Given the description of an element on the screen output the (x, y) to click on. 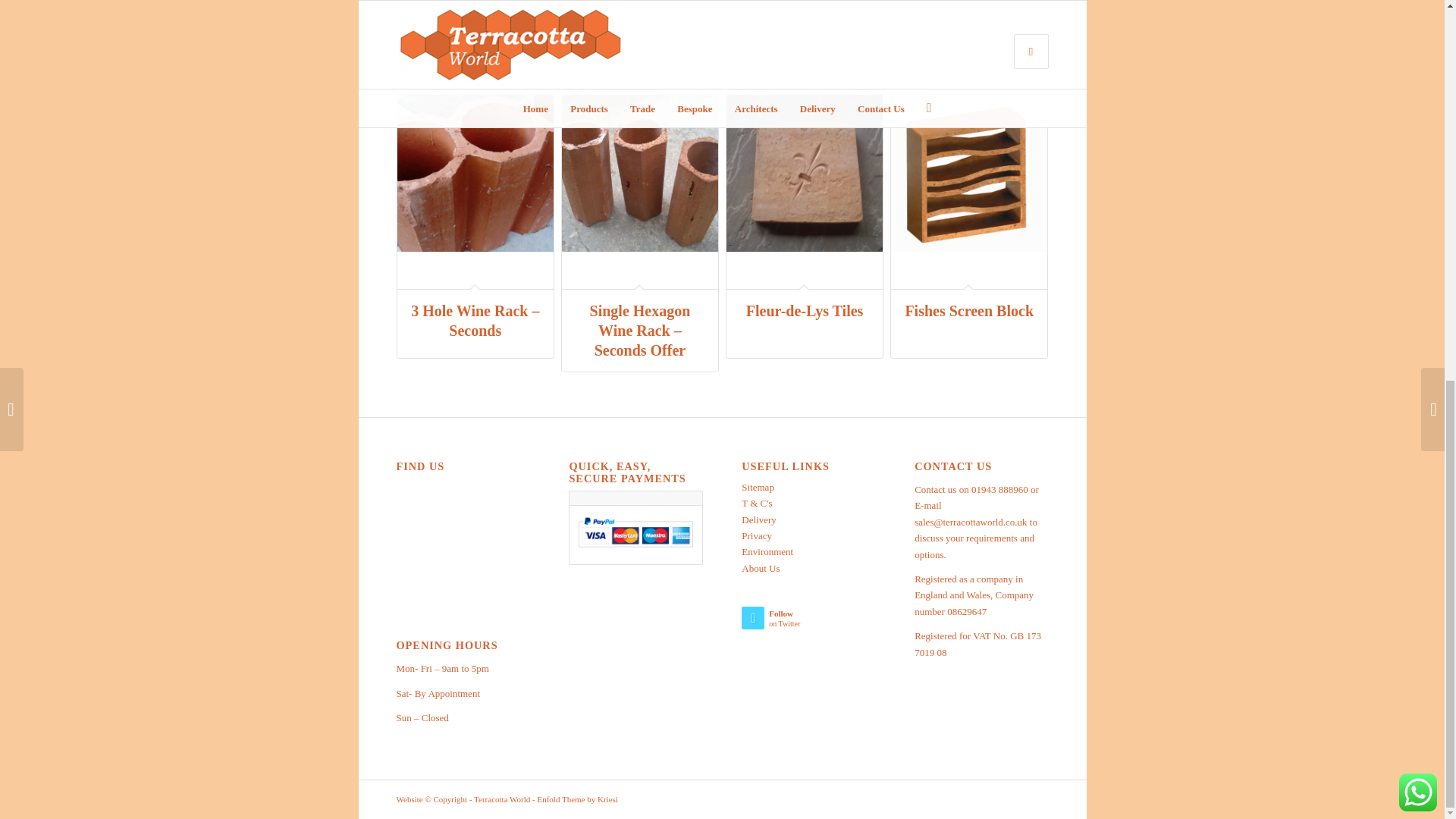
How PayPal Works (635, 548)
